Given the description of an element on the screen output the (x, y) to click on. 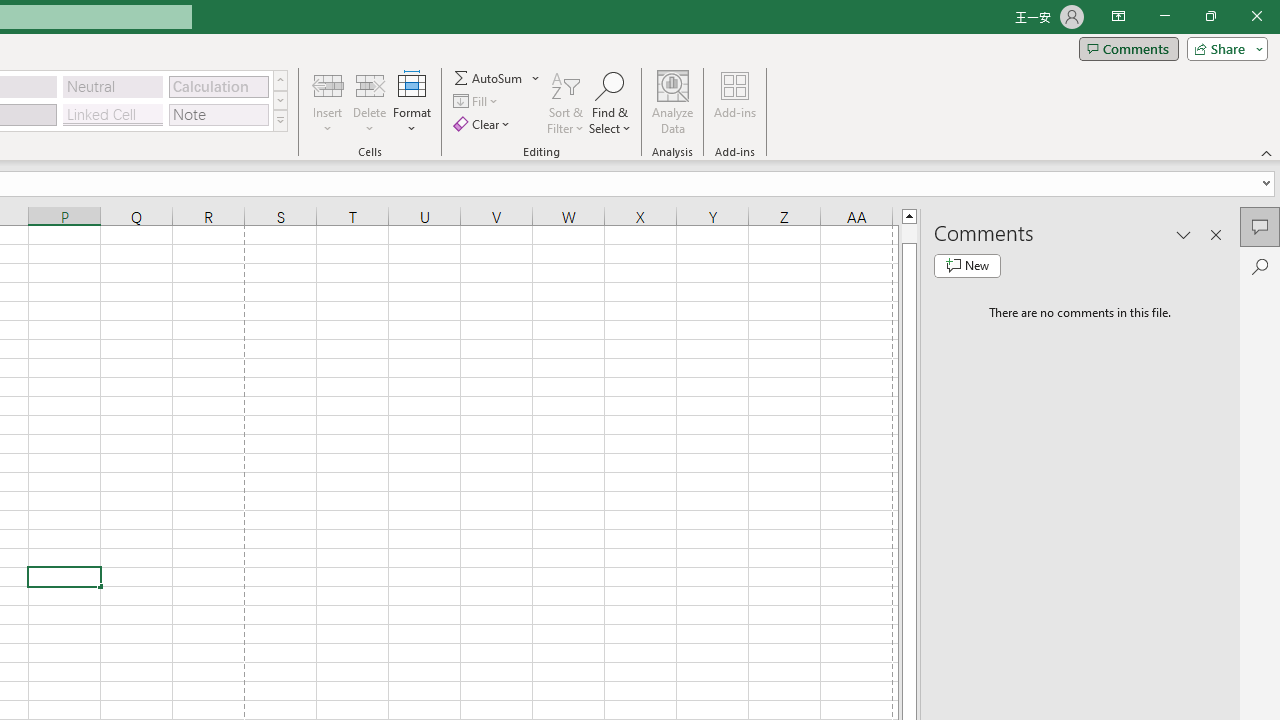
Sum (489, 78)
Find & Select (610, 102)
Sort & Filter (566, 102)
Linked Cell (113, 114)
Page up (909, 233)
Delete (369, 102)
Note (218, 114)
Cell Styles (280, 120)
